Given the description of an element on the screen output the (x, y) to click on. 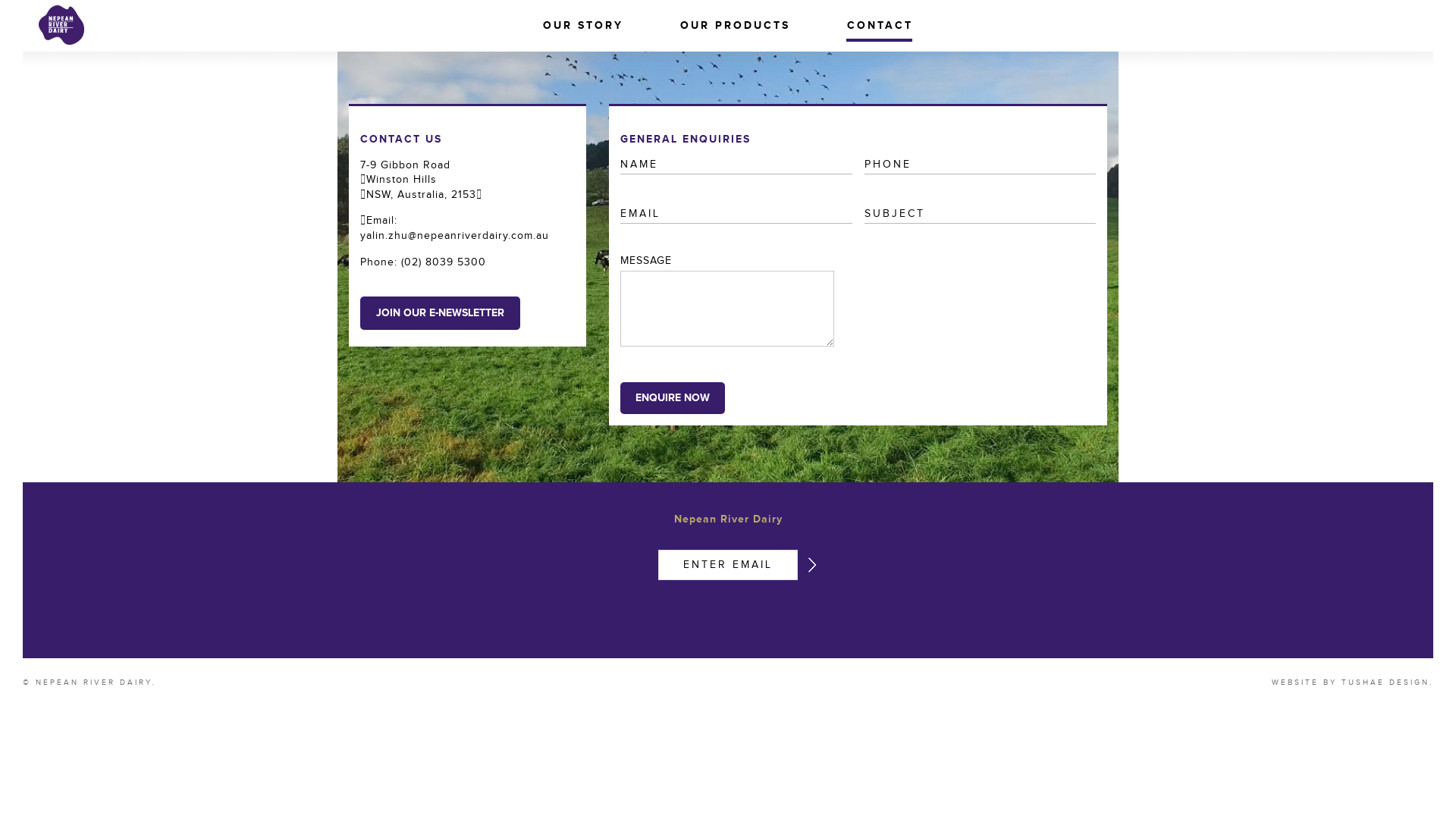
JOIN OUR E-NEWSLETTER Element type: text (440, 312)
OUR STORY Element type: text (588, 25)
TUSHAE DESIGN Element type: text (1385, 682)
yalin.zhu@nepeanriverdairy.com.au  Element type: text (456, 235)
Nepean River Dairy Element type: text (60, 24)
OUR PRODUCTS Element type: text (740, 25)
ENQUIRE NOW Element type: text (672, 398)
CONTACT Element type: text (880, 25)
